Given the description of an element on the screen output the (x, y) to click on. 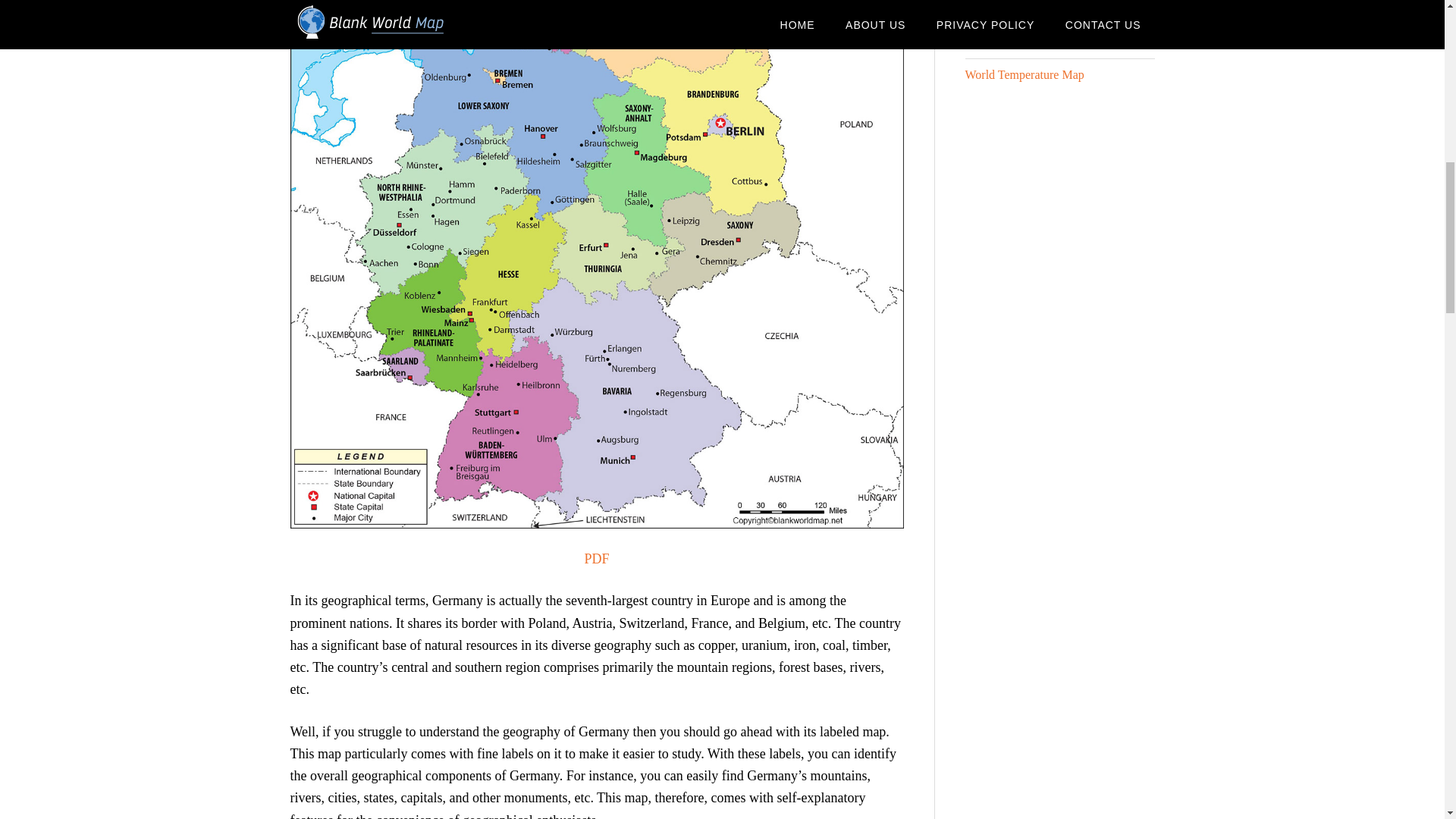
PDF (595, 558)
World Map Physical (1013, 42)
World Map (991, 9)
World Temperature Map (1023, 74)
